Given the description of an element on the screen output the (x, y) to click on. 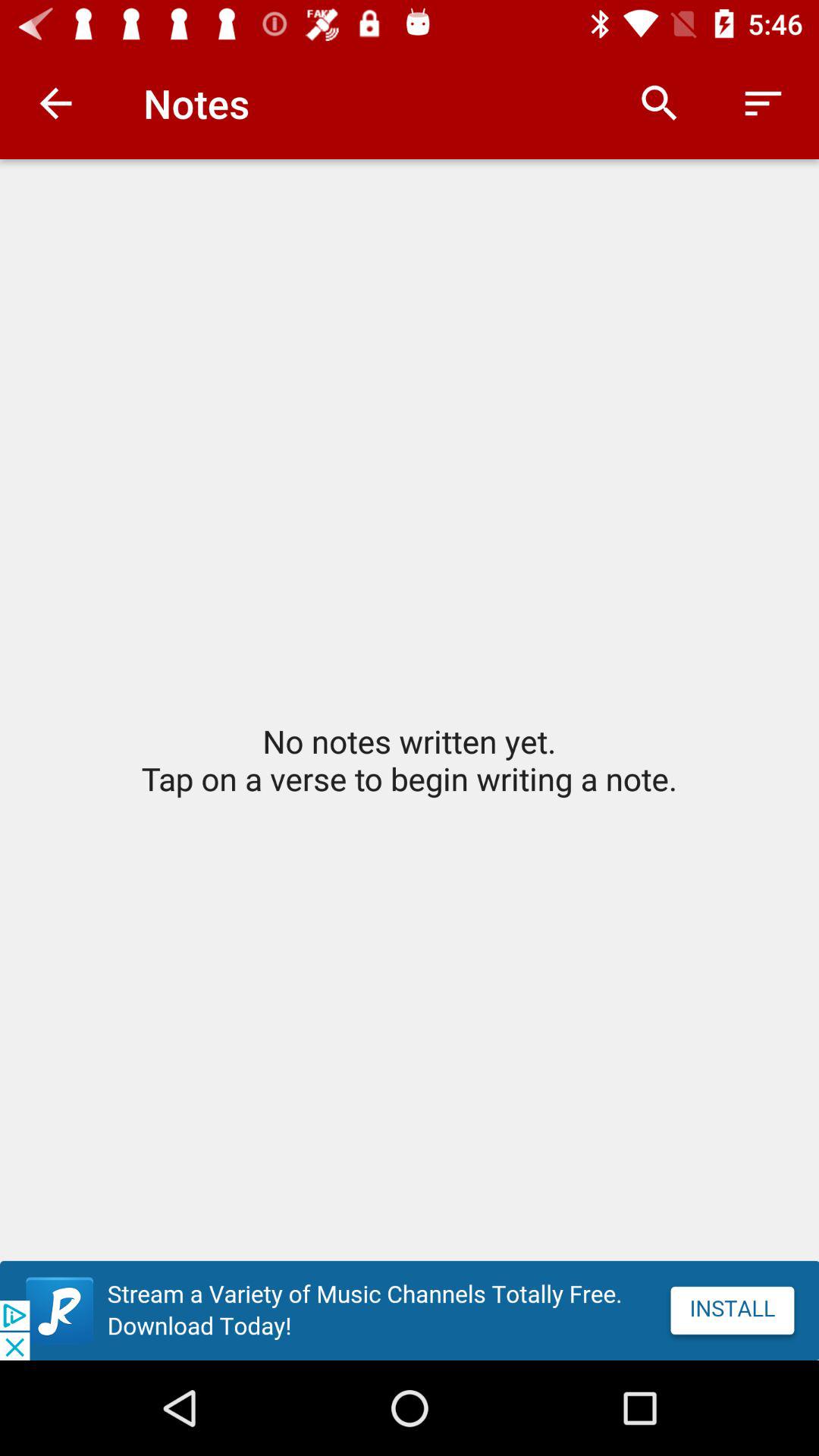
open advertisement (409, 1310)
